Given the description of an element on the screen output the (x, y) to click on. 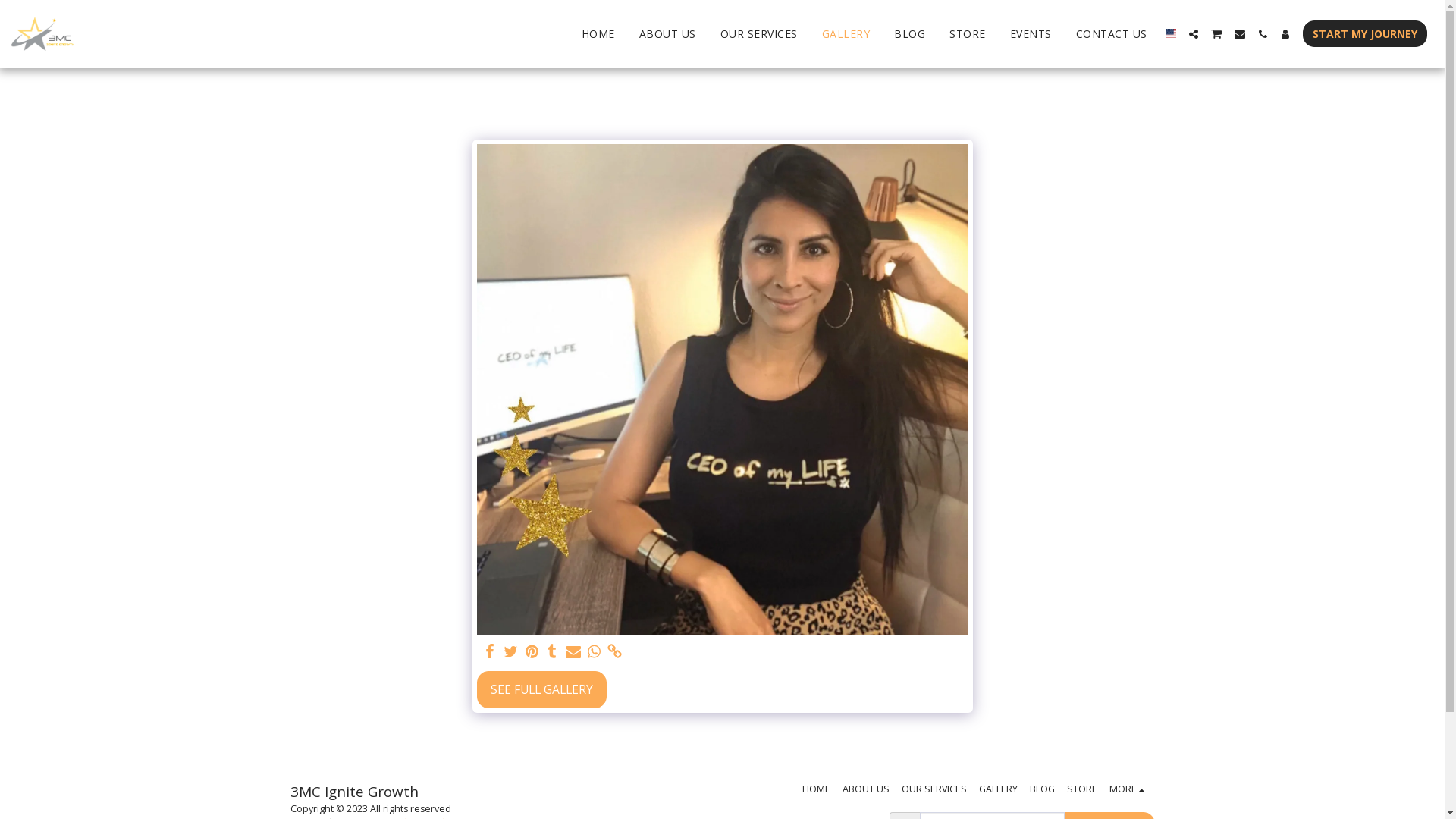
OUR SERVICES Element type: text (933, 789)
CONTACT US Element type: text (1111, 32)
link Element type: hover (614, 651)
  Element type: text (572, 651)
HOME Element type: text (816, 789)
SEE FULL GALLERY Element type: text (540, 689)
  Element type: text (1239, 33)
GALLERY Element type: text (998, 789)
Tweet Element type: hover (510, 651)
  Element type: text (1216, 33)
  Element type: text (531, 651)
  Element type: text (489, 651)
EVENTS Element type: text (1030, 32)
  Element type: text (552, 651)
GALLERY Element type: text (845, 32)
  Element type: text (593, 651)
STORE Element type: text (967, 32)
Share on Facebook Element type: hover (489, 651)
  Element type: text (1262, 33)
Share by Email Element type: hover (572, 651)
STORE Element type: text (1081, 789)
BLOG Element type: text (1041, 789)
  Element type: text (510, 651)
  Element type: text (1284, 33)
tumblr Element type: hover (552, 651)
OUR SERVICES Element type: text (759, 32)
  Element type: text (1193, 33)
BLOG Element type: text (909, 32)
HOME Element type: text (598, 32)
START MY JOURNEY Element type: text (1364, 33)
START MY JOURNEY Element type: text (1364, 33)
MORE   Element type: text (1128, 789)
Pin it Element type: hover (531, 651)
ABOUT US Element type: text (667, 32)
  Element type: text (614, 651)
ABOUT US Element type: text (865, 789)
whatsapp Element type: hover (593, 651)
